Given the description of an element on the screen output the (x, y) to click on. 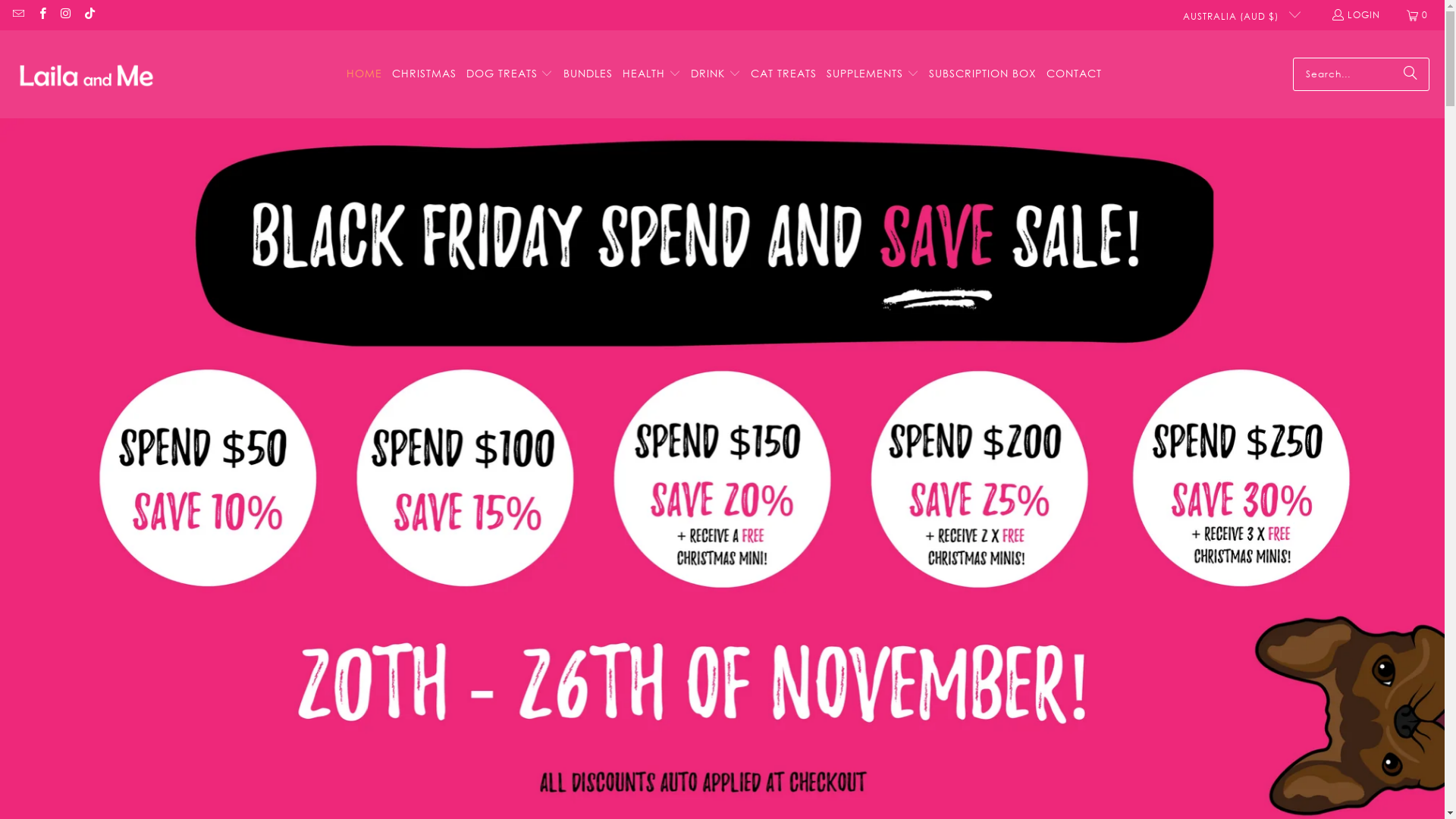
Laila and Me on Instagram Element type: hover (65, 14)
CHRISTMAS Element type: text (424, 73)
Laila and Me on TikTok Element type: hover (88, 14)
CAT TREATS Element type: text (783, 73)
AUSTRALIA (AUD $) Element type: text (1235, 15)
0 Element type: text (1417, 15)
LOGIN Element type: text (1355, 14)
Laila and Me on Facebook Element type: hover (40, 14)
BUNDLES Element type: text (587, 73)
HOME Element type: text (364, 73)
Email Laila and Me Element type: hover (17, 14)
CONTACT Element type: text (1073, 73)
SUBSCRIPTION BOX Element type: text (982, 73)
Laila and Me Element type: hover (85, 73)
